Given the description of an element on the screen output the (x, y) to click on. 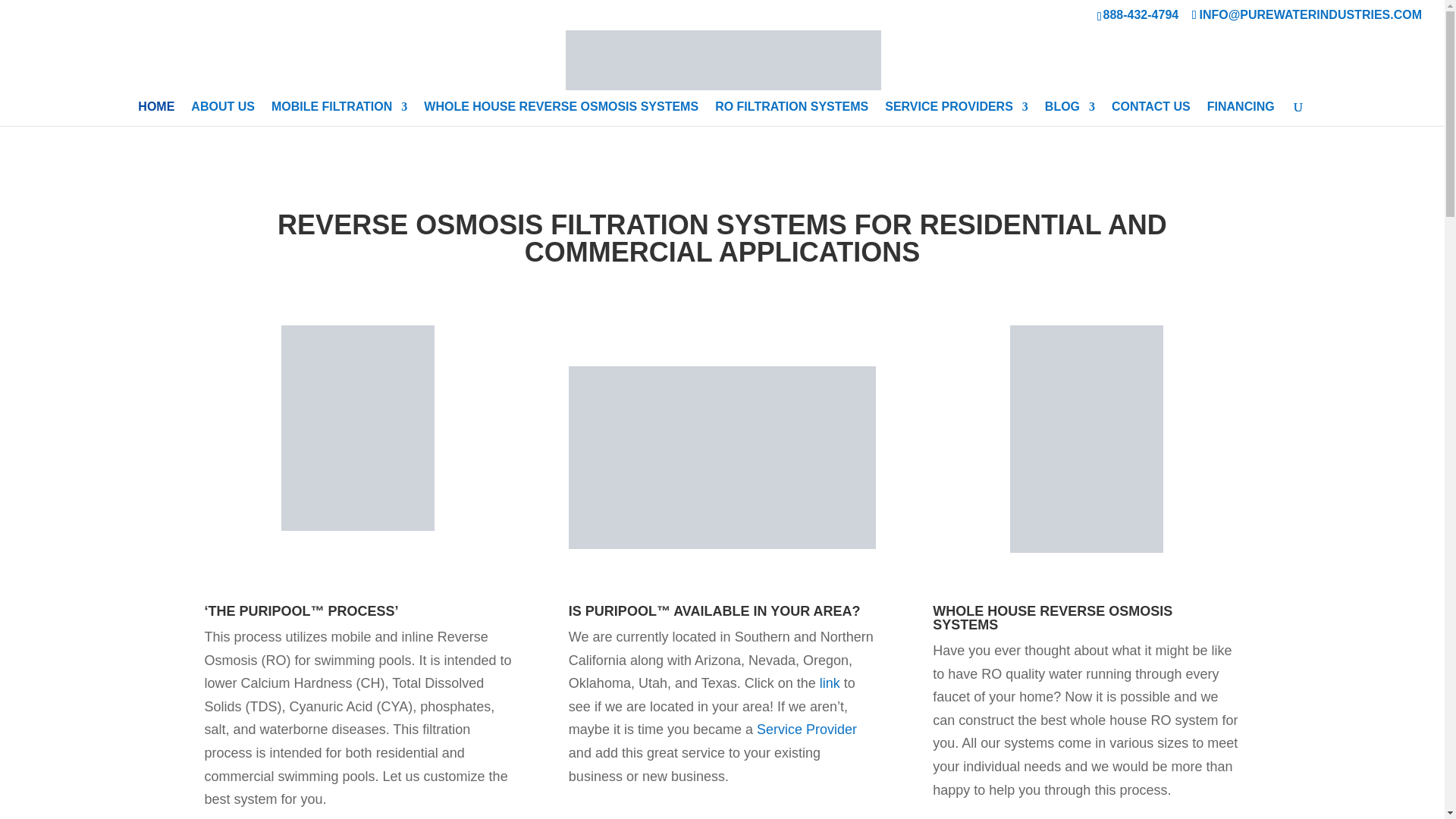
BLOG (1069, 113)
link (829, 683)
SERVICE PROVIDERS (956, 113)
FINANCING (1241, 113)
WHOLE HOUSE REVERSE OSMOSIS SYSTEMS (560, 113)
RO FILTRATION SYSTEMS (790, 113)
CONTACT US (1151, 113)
WHOLE HOUSE REVERSE OSMOSIS SYSTEMS (1052, 617)
Puripool-process (358, 427)
whole-house-reverse-osmosis (1086, 438)
MOBILE FILTRATION (338, 113)
Service Provider (807, 729)
Puripool-available (722, 457)
ABOUT US (222, 113)
HOME (156, 113)
